Given the description of an element on the screen output the (x, y) to click on. 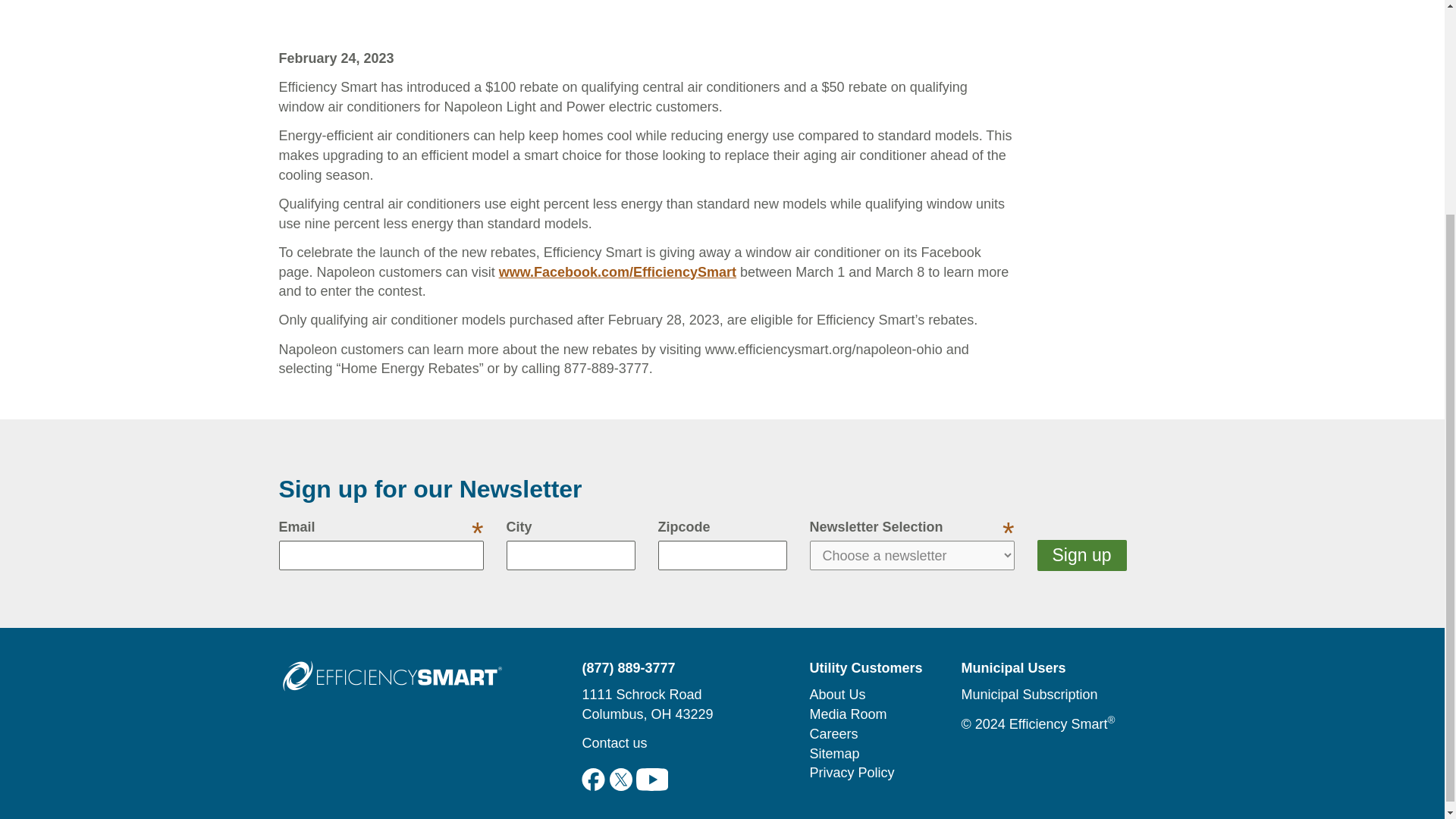
Sign up (1081, 554)
About Us (836, 694)
Contact us (613, 743)
Municipal Subscription (1028, 694)
Sitemap (834, 753)
Media Room (847, 713)
Careers (833, 734)
Privacy Policy (851, 772)
